Given the description of an element on the screen output the (x, y) to click on. 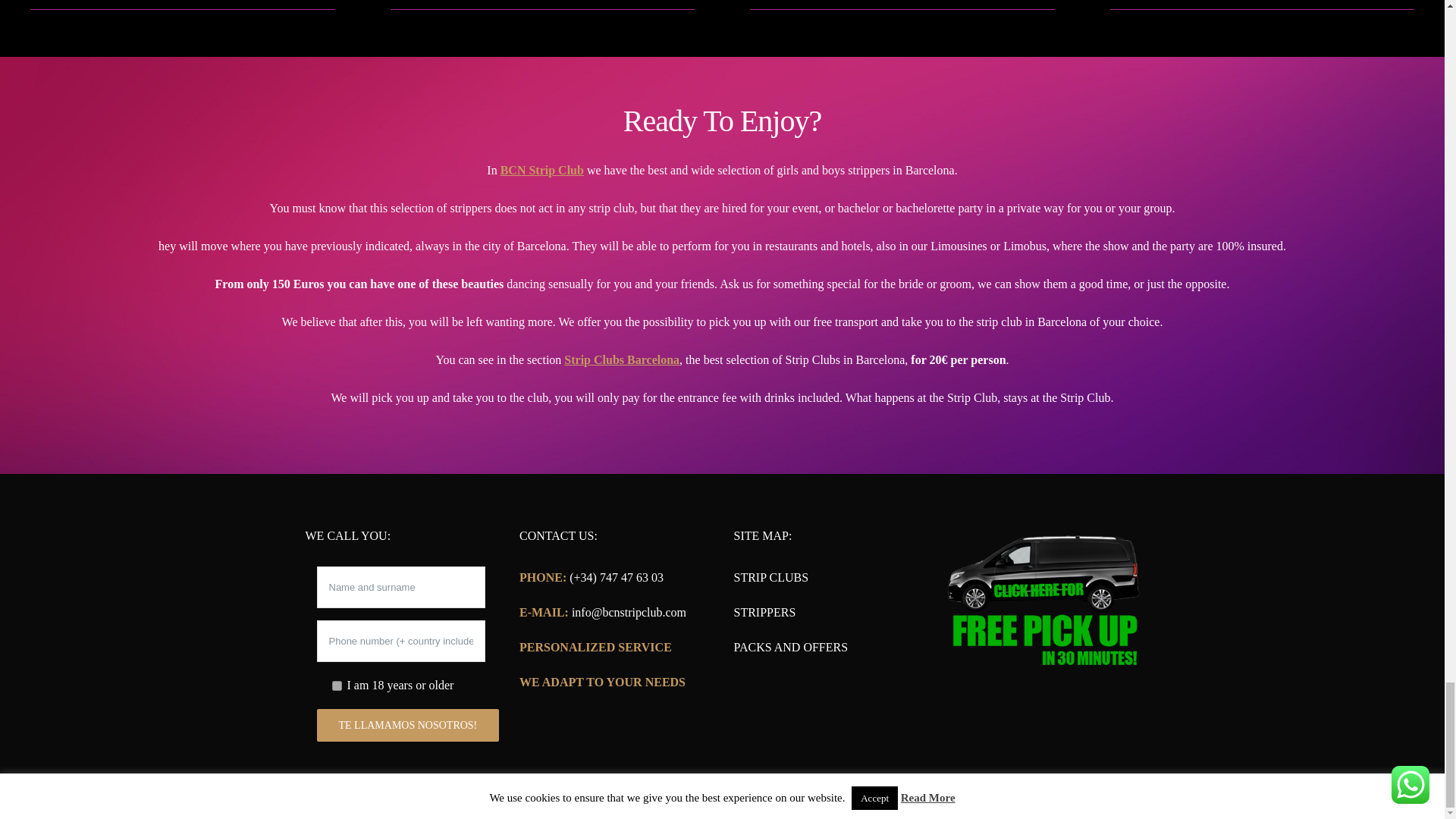
Te llamamos nosotros! (408, 725)
I am 18 years or older (336, 685)
